Given the description of an element on the screen output the (x, y) to click on. 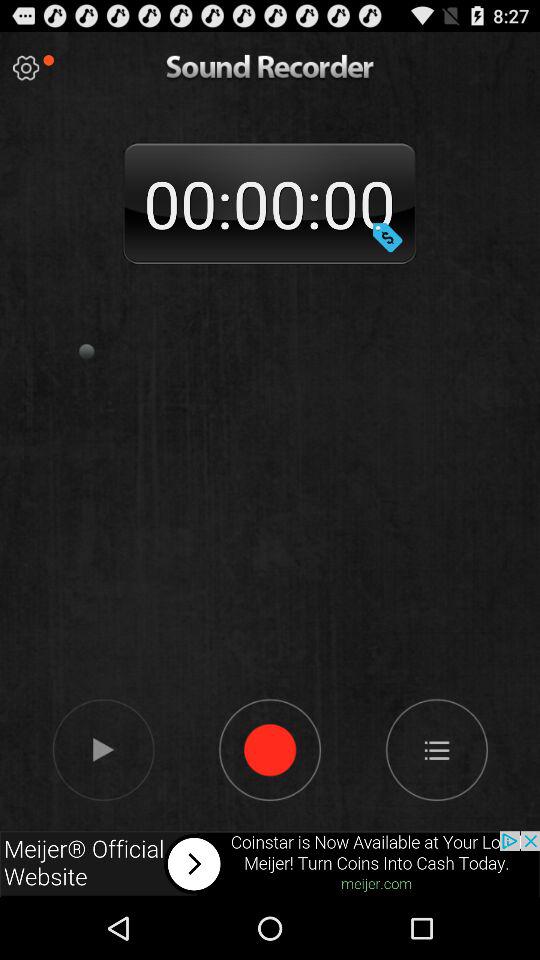
go to play (26, 68)
